Given the description of an element on the screen output the (x, y) to click on. 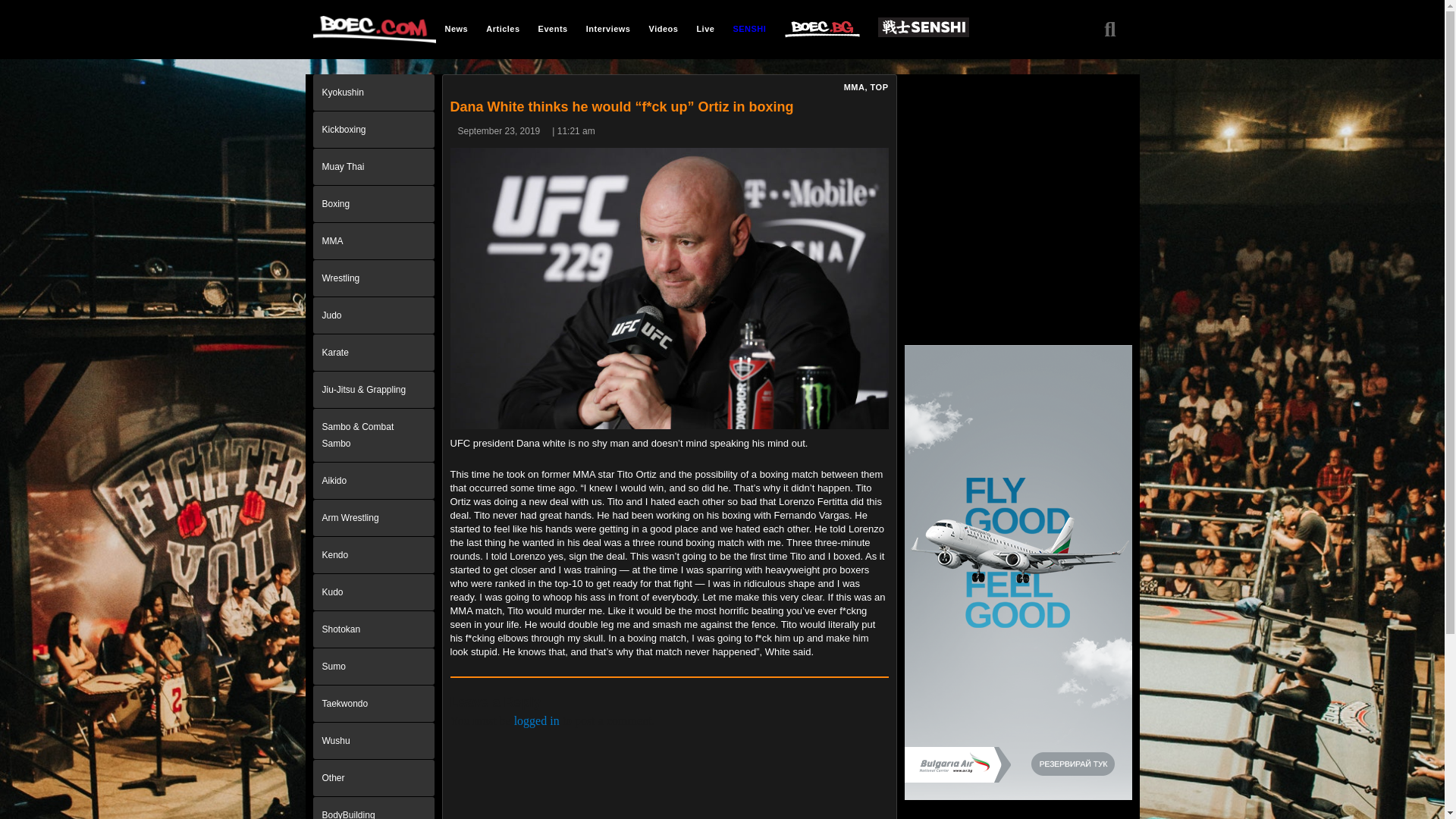
Events (552, 28)
Interviews (608, 28)
News (456, 28)
Articles (502, 28)
Videos (663, 28)
SENSHI (748, 28)
